Given the description of an element on the screen output the (x, y) to click on. 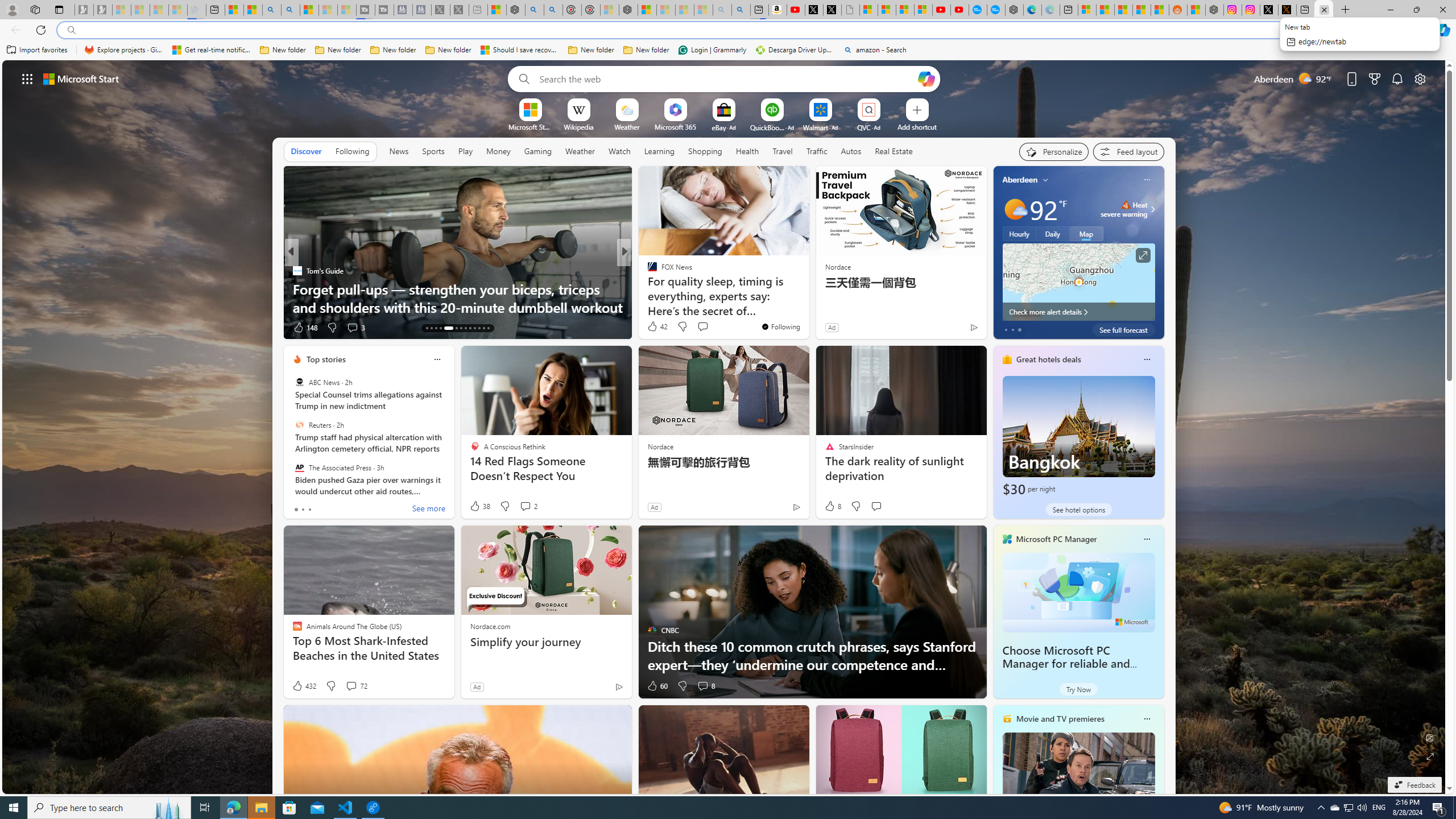
Mostly sunny (1014, 208)
The most popular Google 'how to' searches (996, 9)
Weather (580, 151)
50 Like (652, 327)
poe - Search (533, 9)
hotels-header-icon (1006, 358)
Real Estate (893, 151)
AutomationID: tab-15 (435, 328)
View comments 124 Comment (703, 327)
AutomationID: tab-19 (460, 328)
